Given the description of an element on the screen output the (x, y) to click on. 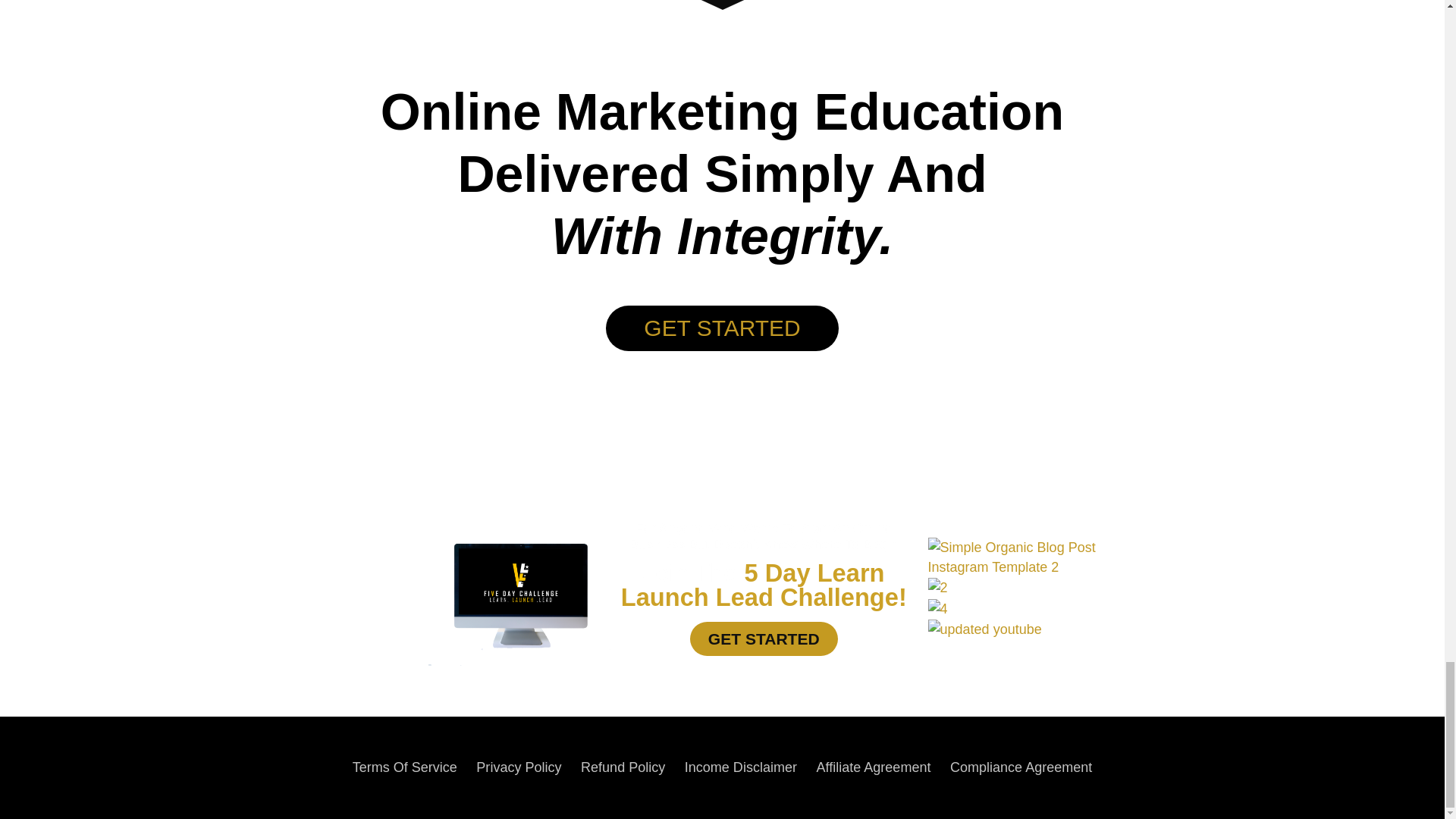
updated youtube (985, 629)
2 (937, 587)
Simple Organic Blog Post Instagram Template 2 (1043, 557)
4 (937, 608)
